Given the description of an element on the screen output the (x, y) to click on. 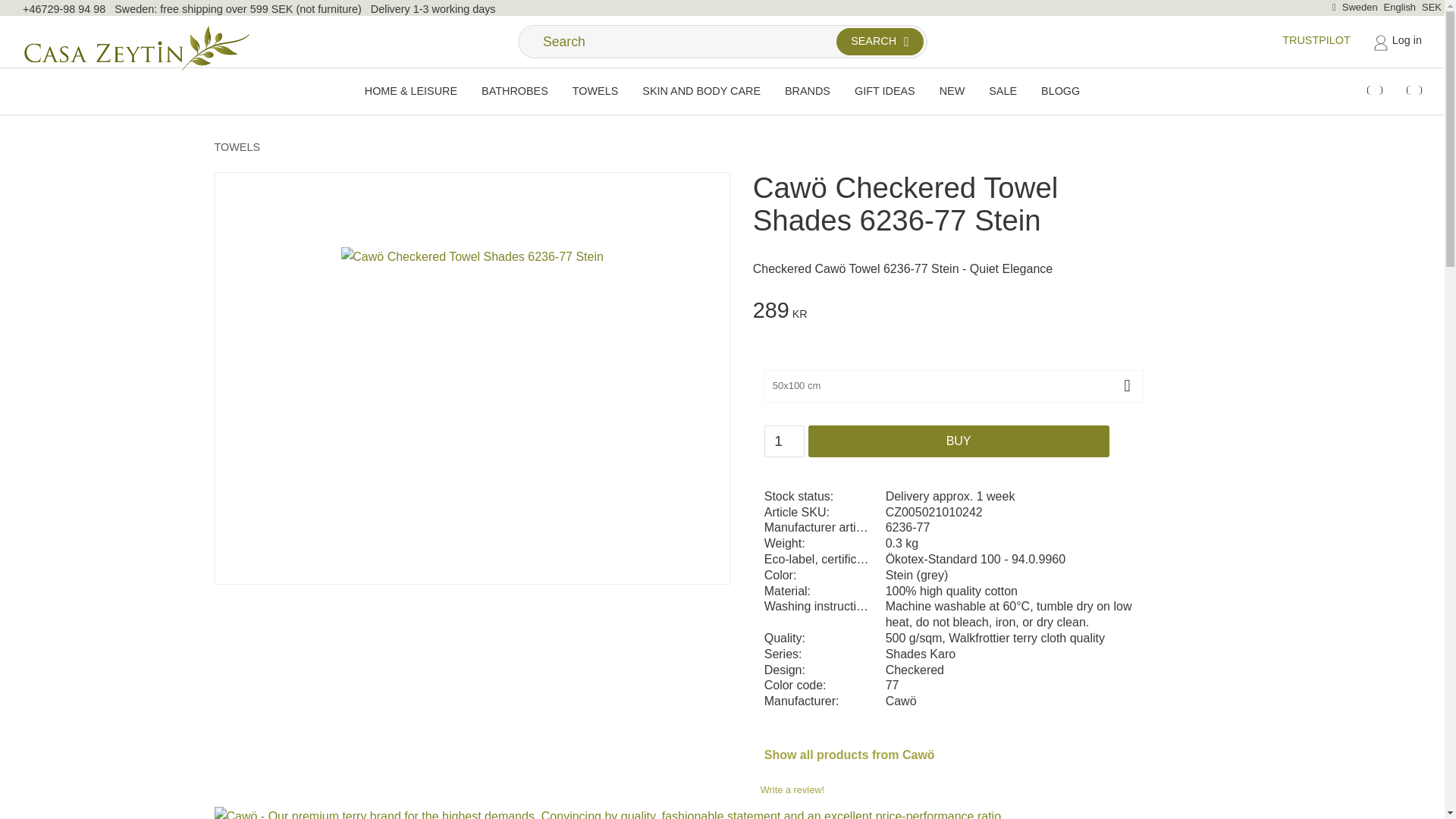
Delivery 1-3 working days (433, 9)
1 (784, 441)
SEARCH (879, 40)
TRUSTPILOT (1316, 39)
Log in (1397, 40)
